Given the description of an element on the screen output the (x, y) to click on. 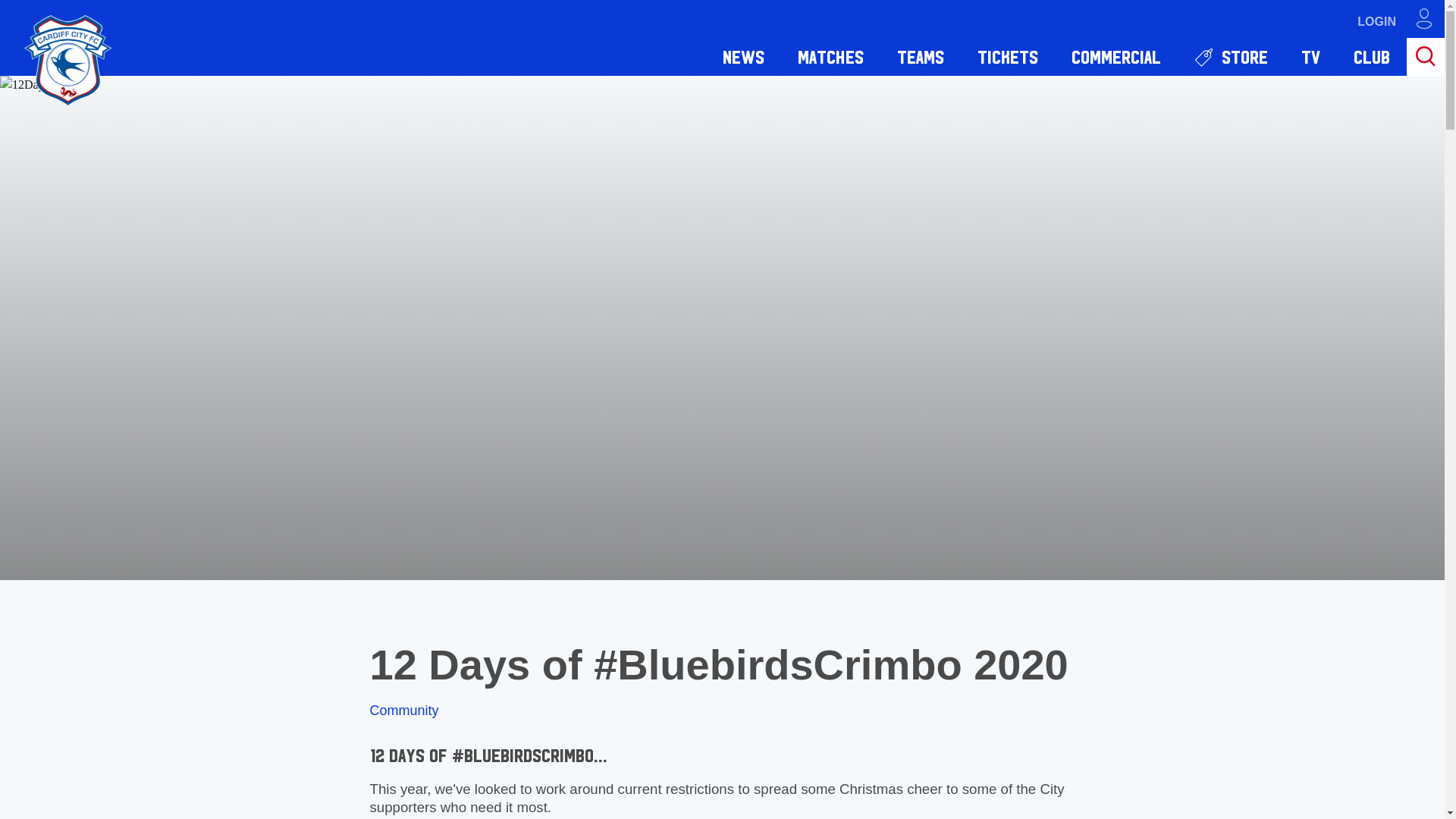
COMMERCIAL (1115, 56)
TEAMS (920, 56)
TICKETS (1007, 56)
MATCHES (830, 56)
STORE (1230, 56)
NEWS (743, 56)
